Given the description of an element on the screen output the (x, y) to click on. 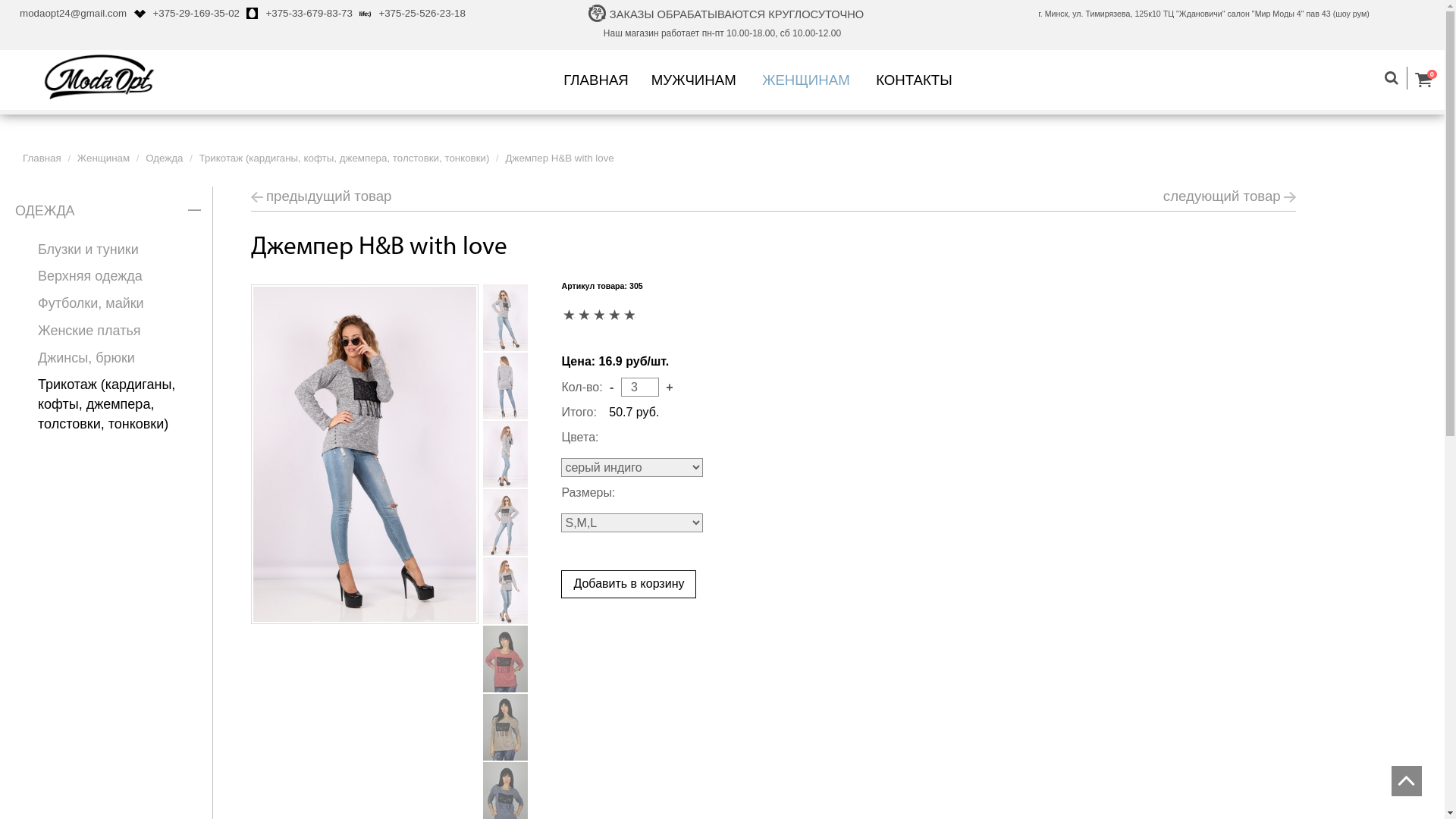
+375-33-679-83-73 Element type: text (308, 12)
0 Element type: text (1429, 79)
+375-29-169-35-02 Element type: text (196, 12)
0 Element type: hover (629, 315)
- Element type: text (611, 386)
+375-25-526-23-18 Element type: text (421, 12)
modaopt24@gmail.com Element type: text (72, 12)
+ Element type: text (668, 386)
